Given the description of an element on the screen output the (x, y) to click on. 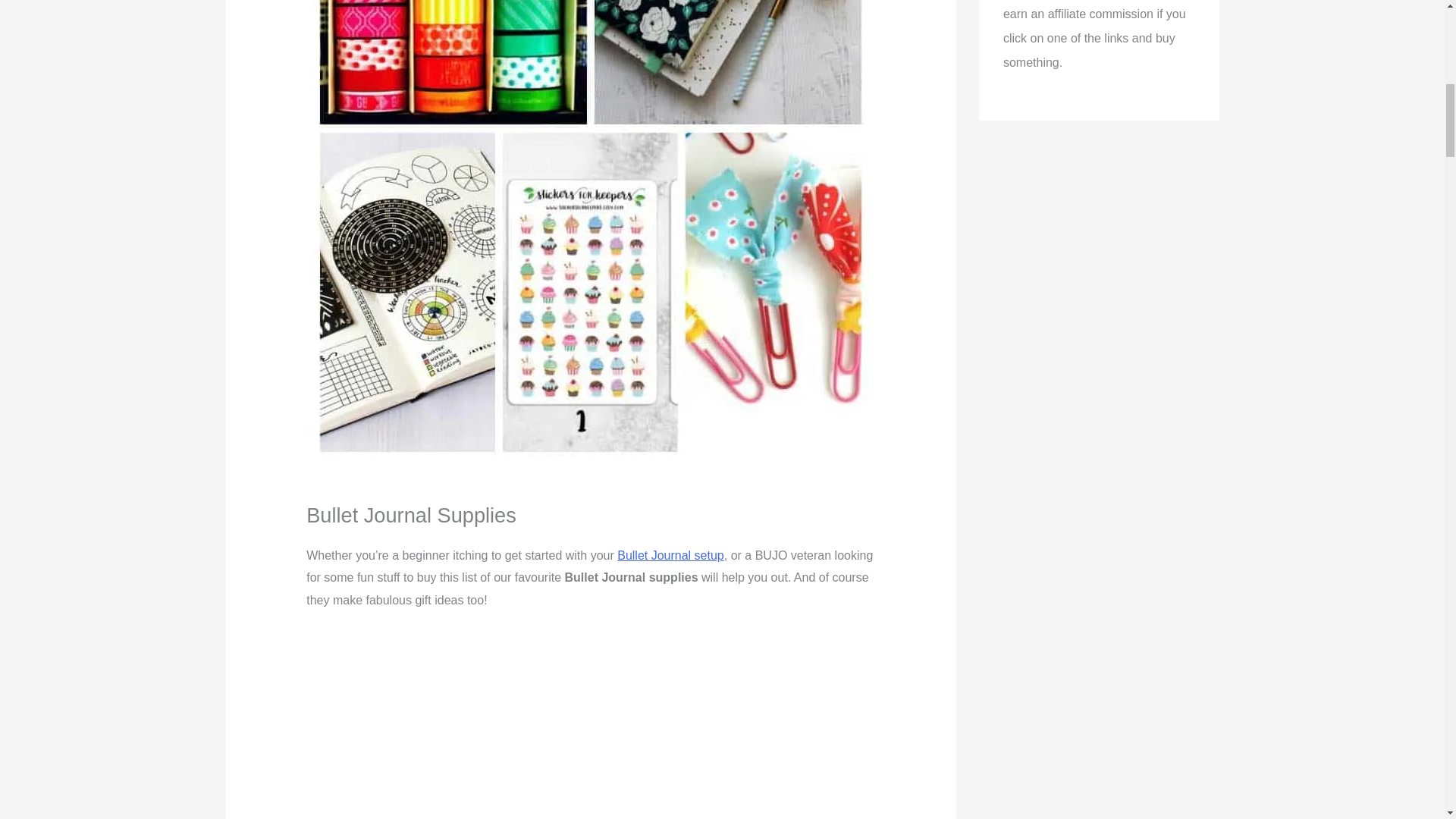
Bullet Journal setup (670, 554)
